Given the description of an element on the screen output the (x, y) to click on. 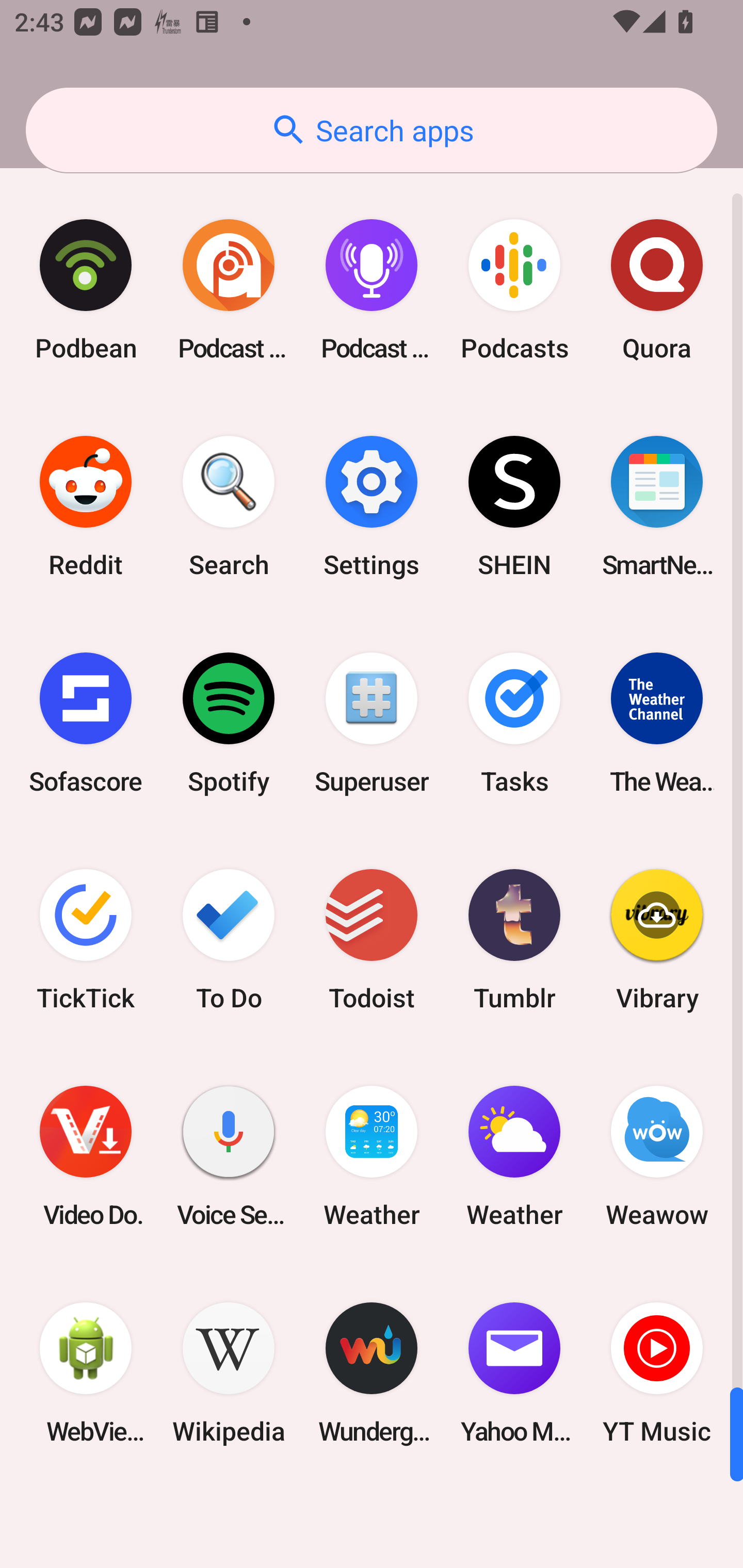
  Search apps (371, 130)
Podbean (85, 289)
Podcast Addict (228, 289)
Podcast Player (371, 289)
Podcasts (514, 289)
Quora (656, 289)
Reddit (85, 506)
Search (228, 506)
Settings (371, 506)
SHEIN (514, 506)
SmartNews (656, 506)
Sofascore (85, 722)
Spotify (228, 722)
Superuser (371, 722)
Tasks (514, 722)
The Weather Channel (656, 722)
TickTick (85, 939)
To Do (228, 939)
Todoist (371, 939)
Tumblr (514, 939)
Vibrary (656, 939)
Video Downloader & Ace Player (85, 1156)
Voice Search (228, 1156)
Weather (371, 1156)
Weather (514, 1156)
Weawow (656, 1156)
WebView Browser Tester (85, 1373)
Wikipedia (228, 1373)
Wunderground (371, 1373)
Yahoo Mail (514, 1373)
YT Music (656, 1373)
